Given the description of an element on the screen output the (x, y) to click on. 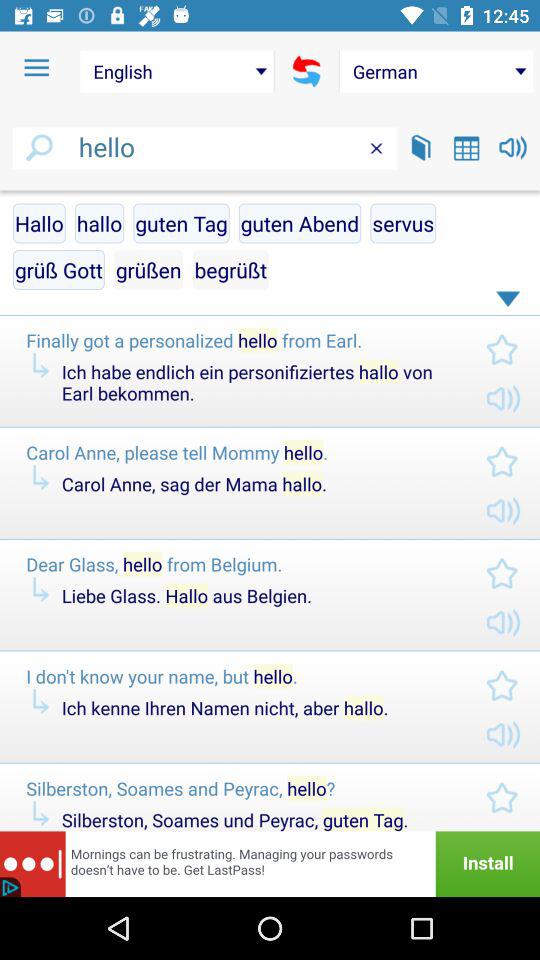
scroll until german icon (436, 71)
